Given the description of an element on the screen output the (x, y) to click on. 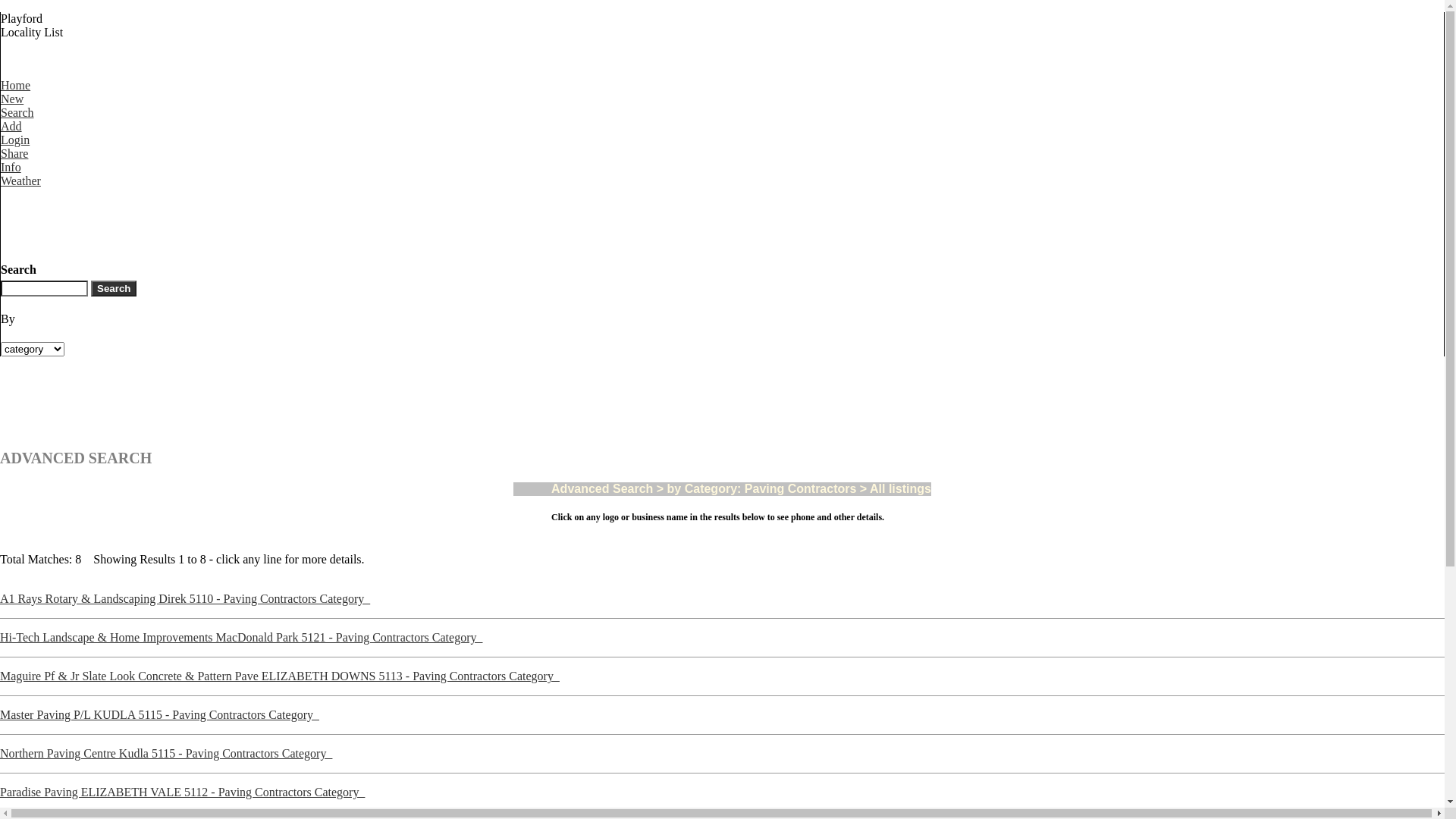
Weather Element type: text (20, 187)
Search Element type: text (17, 119)
New Element type: text (15, 105)
Info Element type: text (14, 173)
Master Paving P/L KUDLA 5115 - Paving Contractors Category   Element type: text (159, 714)
Advertisement Element type: hover (276, 222)
Add Element type: text (17, 132)
Share Element type: text (14, 160)
Login Element type: text (14, 146)
Search Element type: text (113, 288)
Advertisement Element type: hover (276, 402)
Home Element type: text (15, 91)
